Given the description of an element on the screen output the (x, y) to click on. 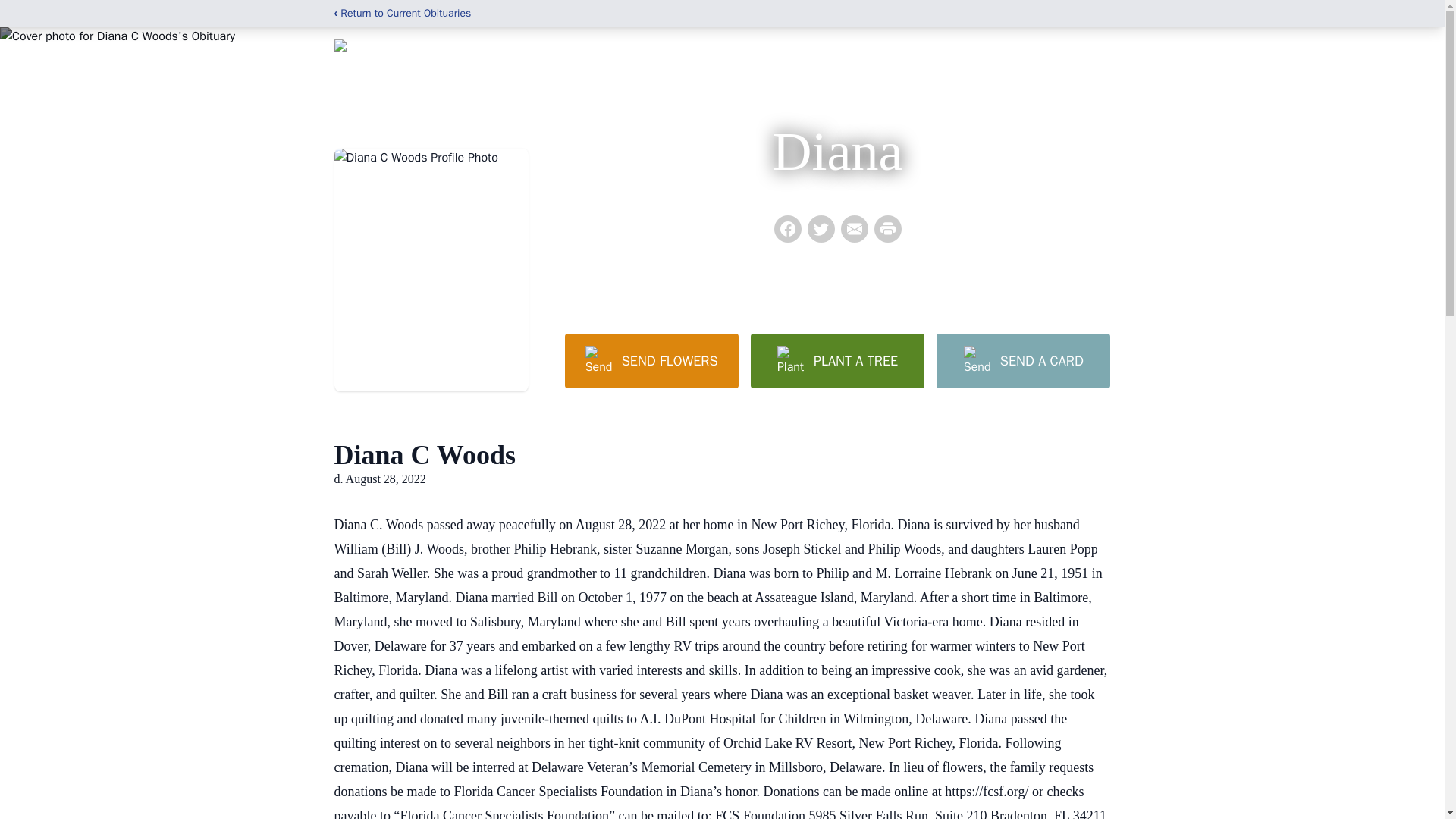
SEND FLOWERS (651, 360)
PLANT A TREE (837, 360)
SEND A CARD (1022, 360)
